Given the description of an element on the screen output the (x, y) to click on. 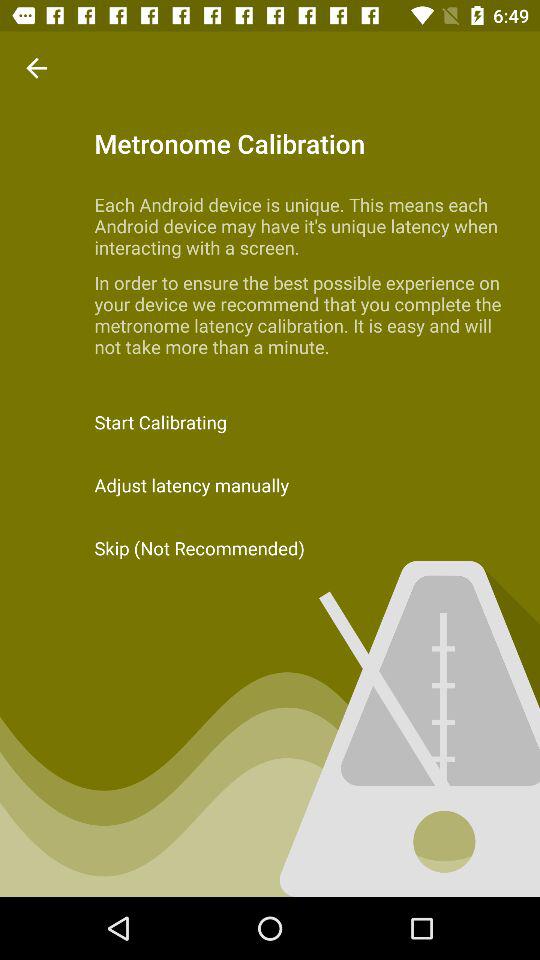
flip to skip (not recommended) (270, 547)
